Given the description of an element on the screen output the (x, y) to click on. 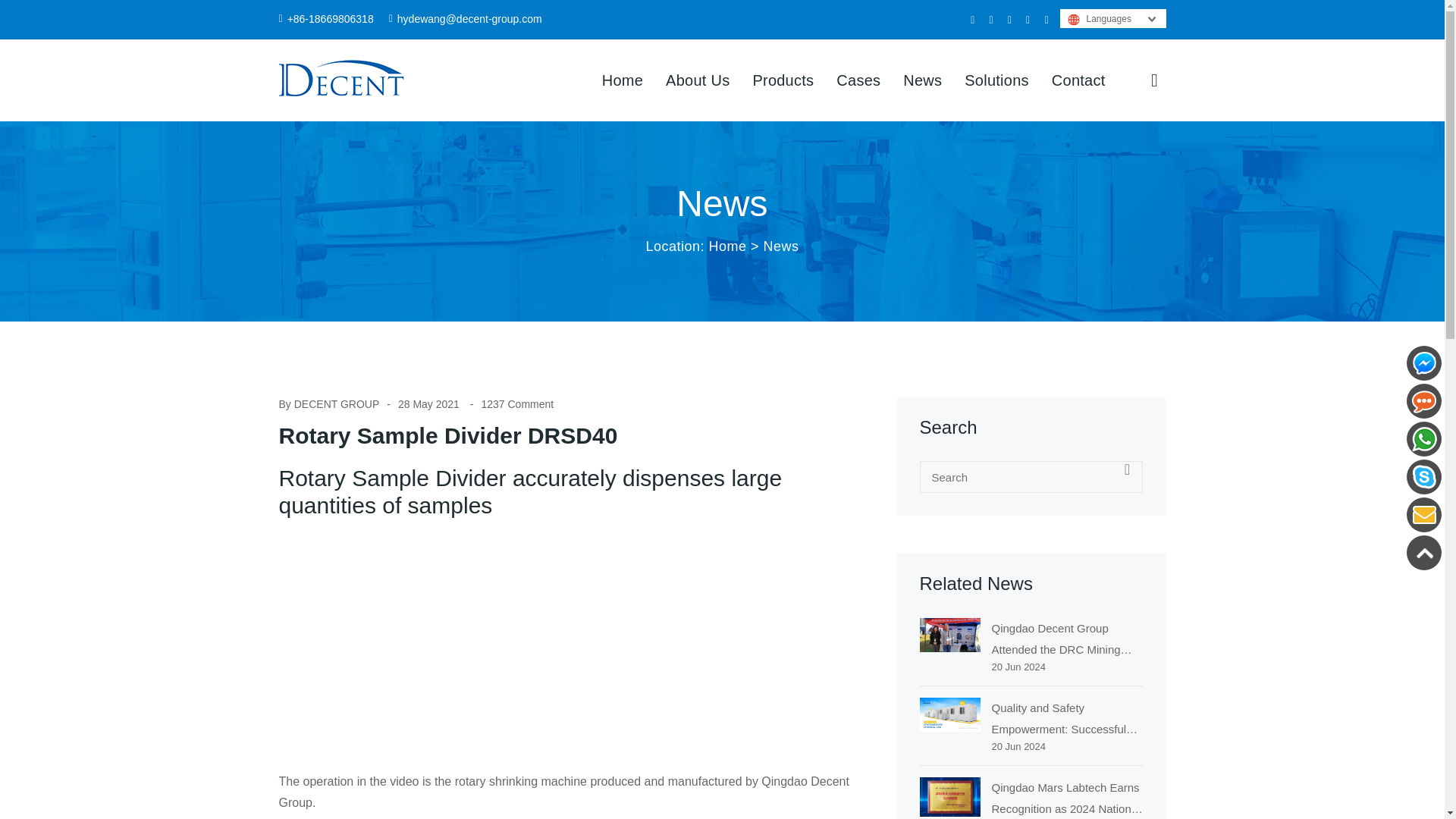
Products (782, 79)
About Us (697, 79)
Languages (1098, 18)
